Given the description of an element on the screen output the (x, y) to click on. 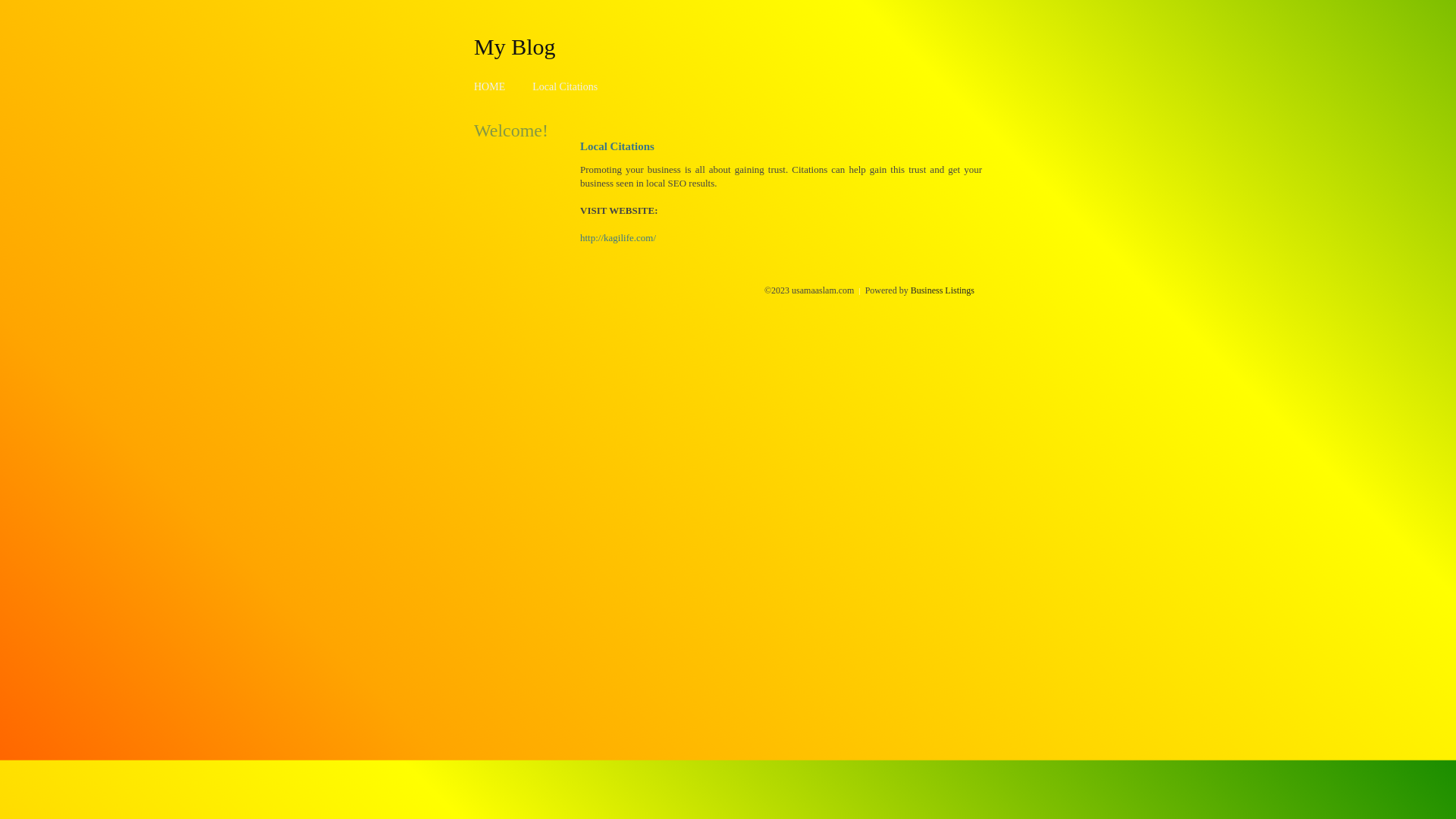
Local Citations Element type: text (564, 86)
My Blog Element type: text (514, 46)
http://kagilife.com/ Element type: text (617, 237)
HOME Element type: text (489, 86)
Business Listings Element type: text (942, 290)
